Given the description of an element on the screen output the (x, y) to click on. 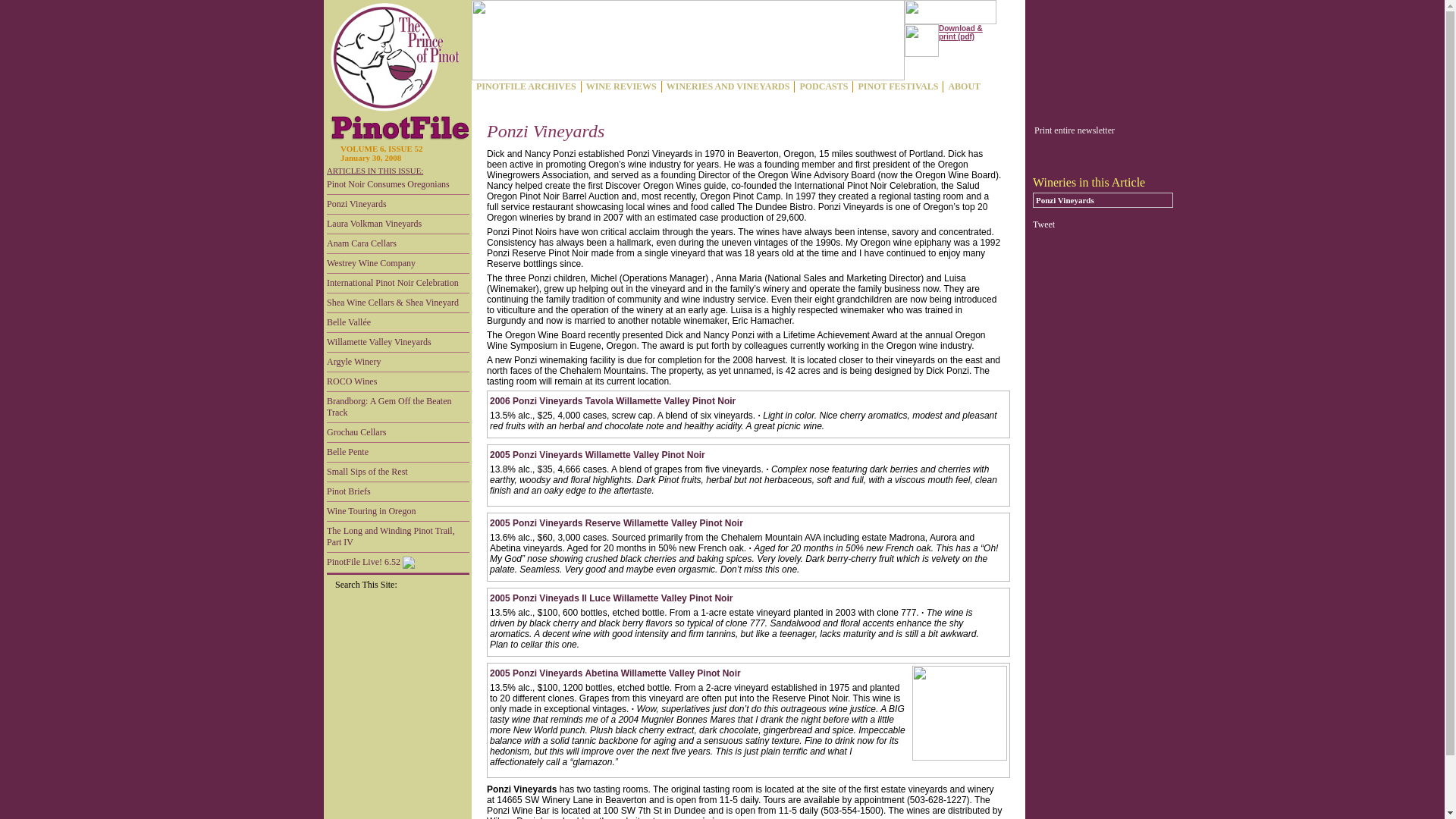
The Long and Winding Pinot Trail, Part IV (397, 536)
Pinot Briefs (397, 492)
Ponzi Vineyards (397, 204)
WINE REVIEWS (620, 86)
Anam Cara Cellars (397, 243)
Willamette Valley Vineyards (397, 342)
PINOT FESTIVALS (897, 86)
Brandborg: A Gem Off the Beaten Track (397, 407)
ROCO Wines (397, 382)
PODCASTS (822, 86)
